Given the description of an element on the screen output the (x, y) to click on. 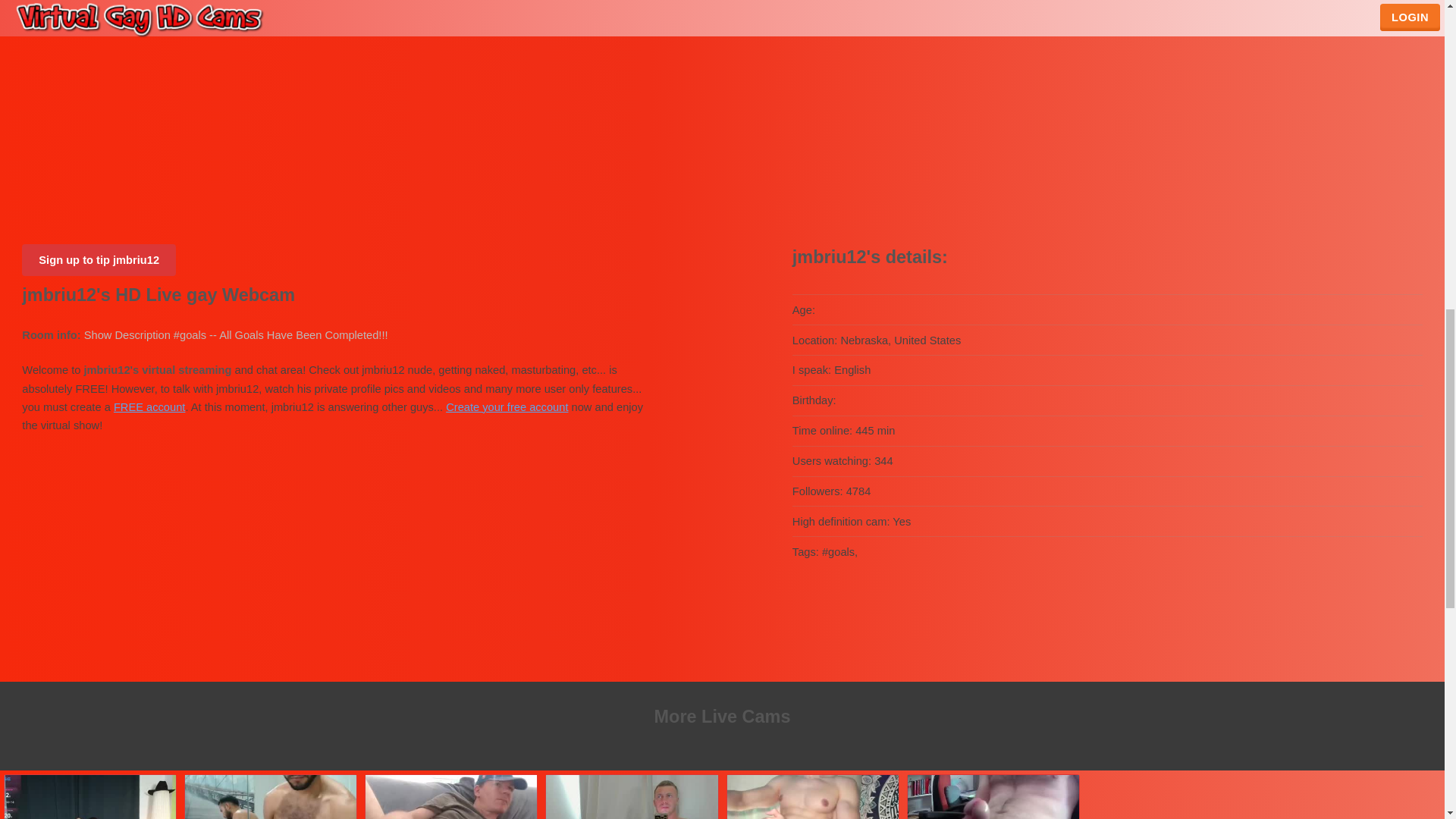
FREE account (149, 407)
Sign up to tip jmbriu12 (98, 260)
Create your free account (506, 407)
